Given the description of an element on the screen output the (x, y) to click on. 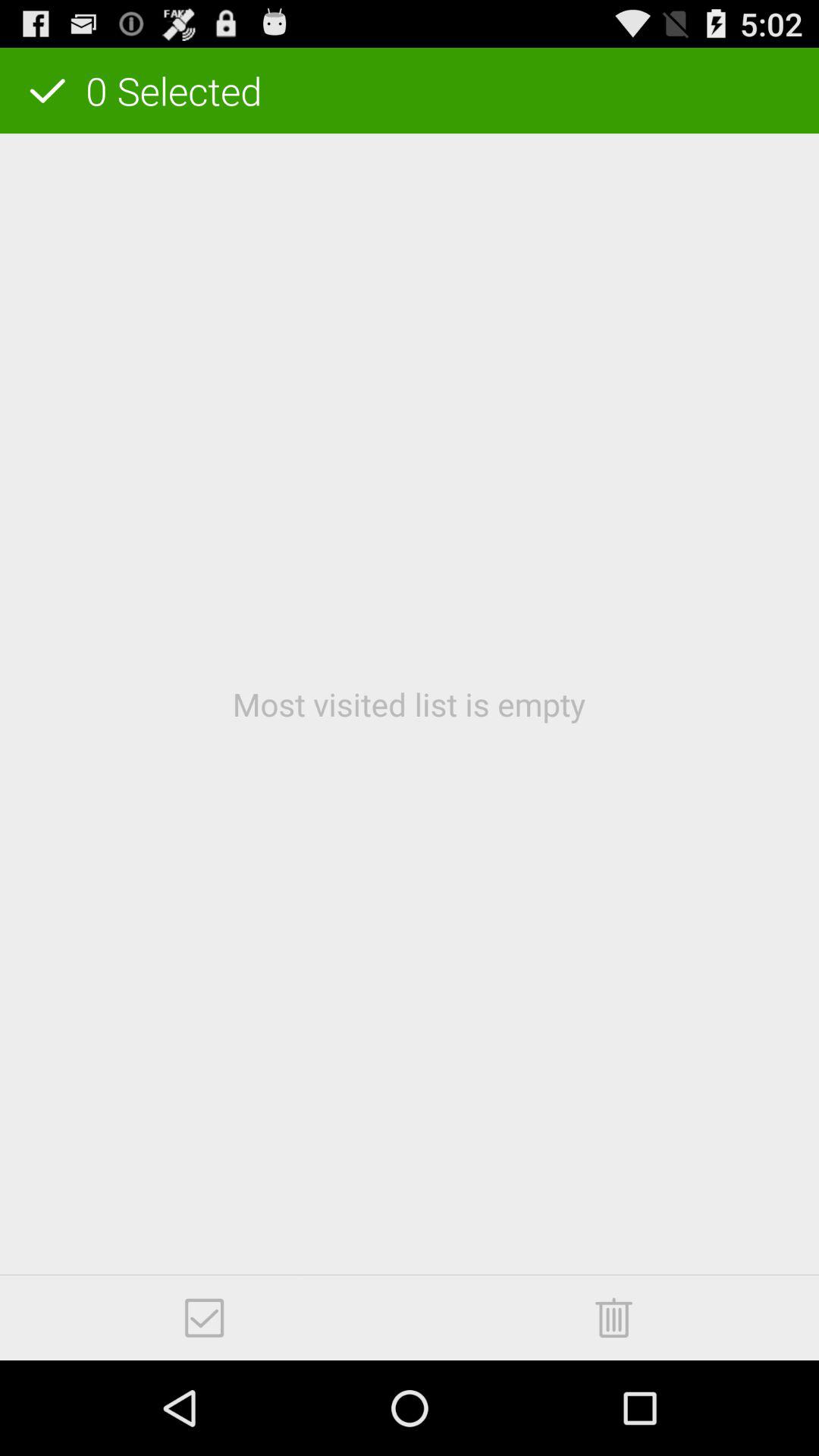
delete (613, 1317)
